Given the description of an element on the screen output the (x, y) to click on. 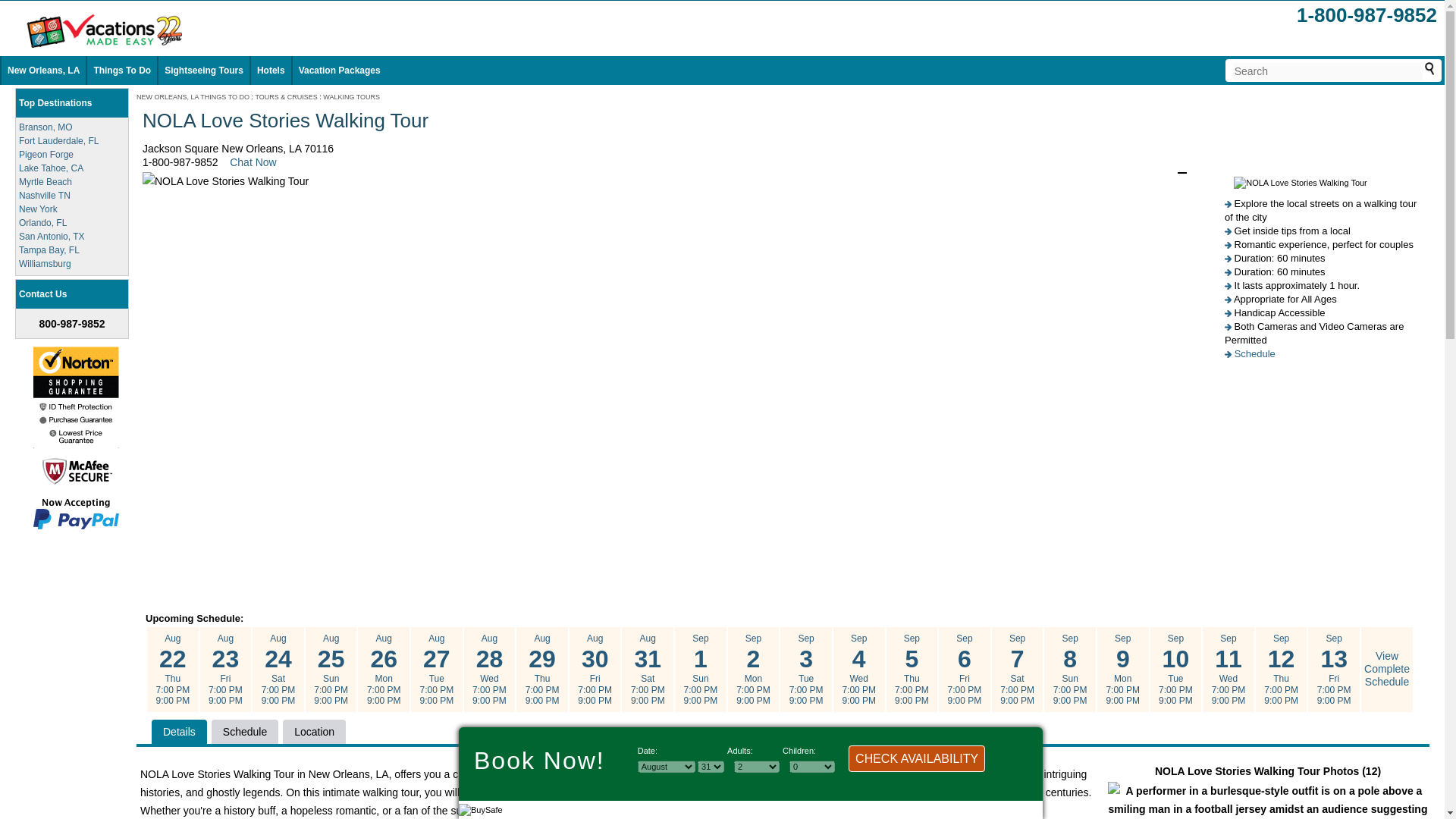
Location (314, 731)
Pigeon Forge (46, 154)
Hotels (271, 70)
Branson, MO (45, 127)
Sightseeing Tours (203, 70)
Chat Now (253, 162)
Tampa Bay, FL (49, 249)
WALKING TOURS (351, 96)
New Orleans, LA (43, 70)
Nashville TN (43, 195)
